Given the description of an element on the screen output the (x, y) to click on. 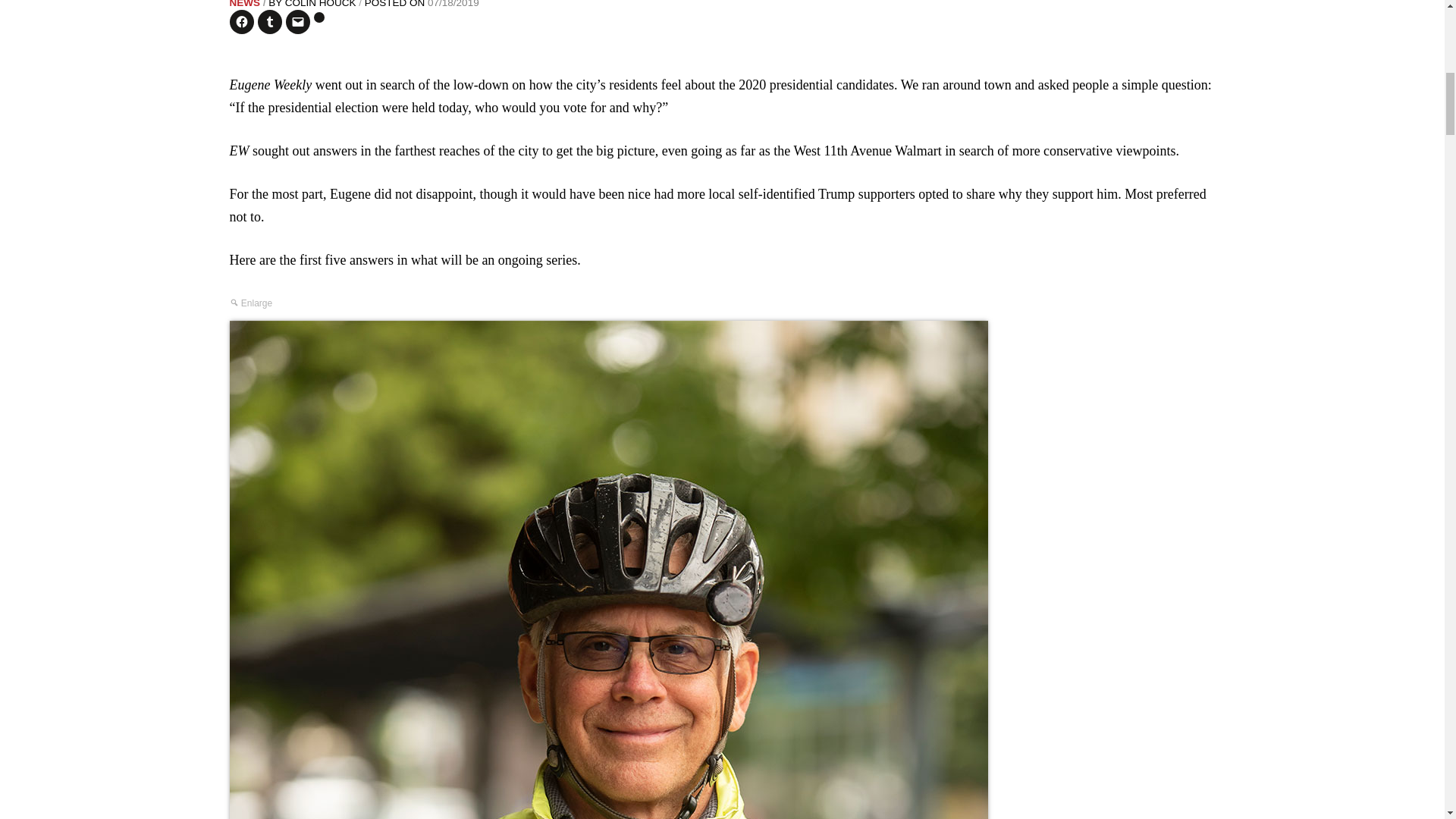
Click to email a link to a friend (296, 21)
Click to share on Facebook (240, 21)
Click to share on Tumblr (269, 21)
Click to print (319, 17)
